Given the description of an element on the screen output the (x, y) to click on. 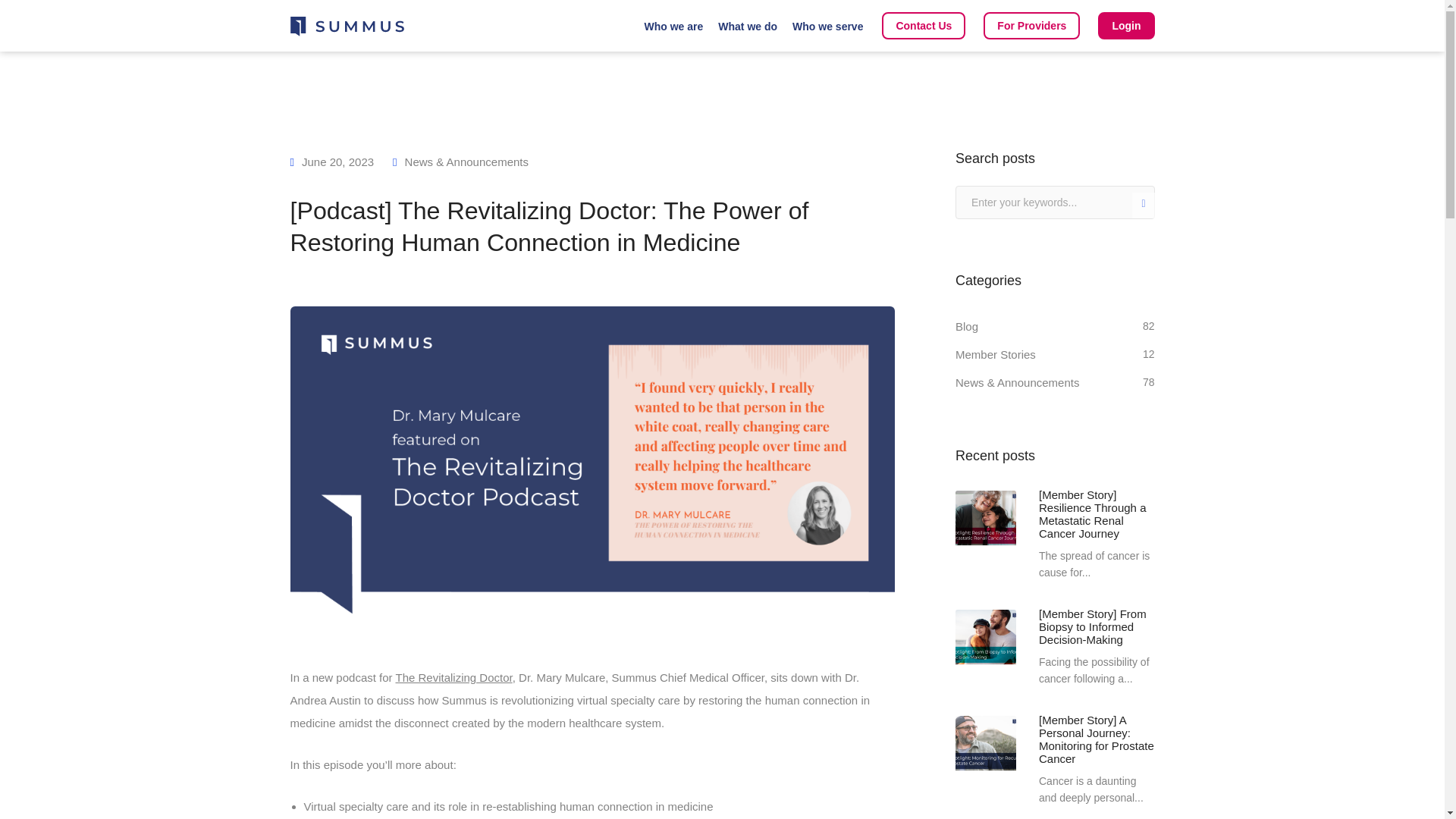
Blog (966, 326)
The Revitalizing Doctor (453, 676)
Member Stories (995, 354)
Who we are (674, 27)
Who we serve (827, 27)
Login (1125, 25)
What we do (747, 27)
For Providers (1032, 25)
Contact Us (923, 25)
